Given the description of an element on the screen output the (x, y) to click on. 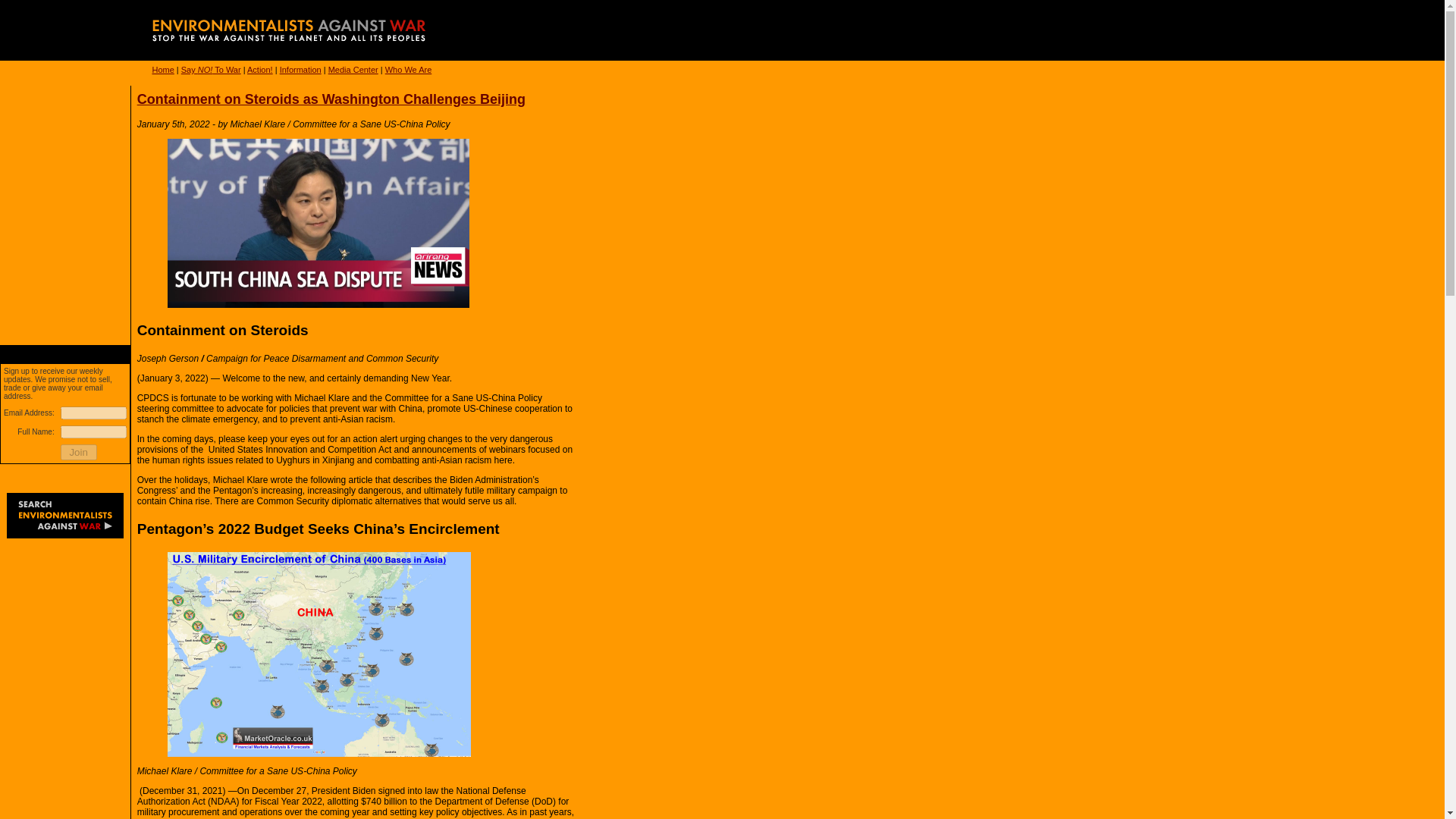
Home (162, 69)
Containment on Steroids as Washington Challenges Beijing (330, 99)
Media Center (353, 69)
Who We Are (408, 69)
 Join  (79, 452)
Information (300, 69)
Action! (260, 69)
 Join  (79, 452)
Say NO! To War (210, 69)
